Given the description of an element on the screen output the (x, y) to click on. 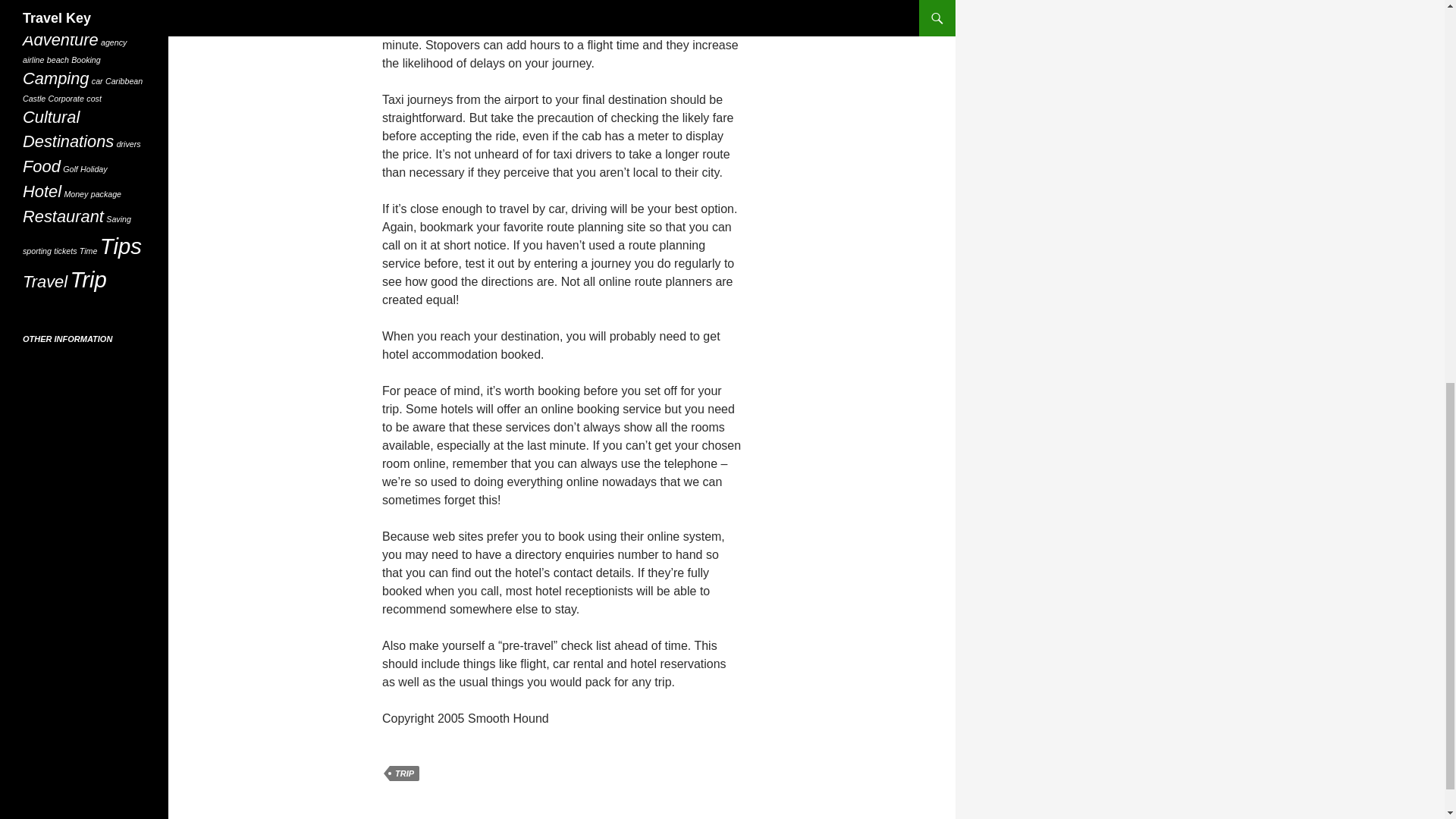
Adventure (61, 39)
accommodation (51, 20)
TRIP (404, 773)
